Given the description of an element on the screen output the (x, y) to click on. 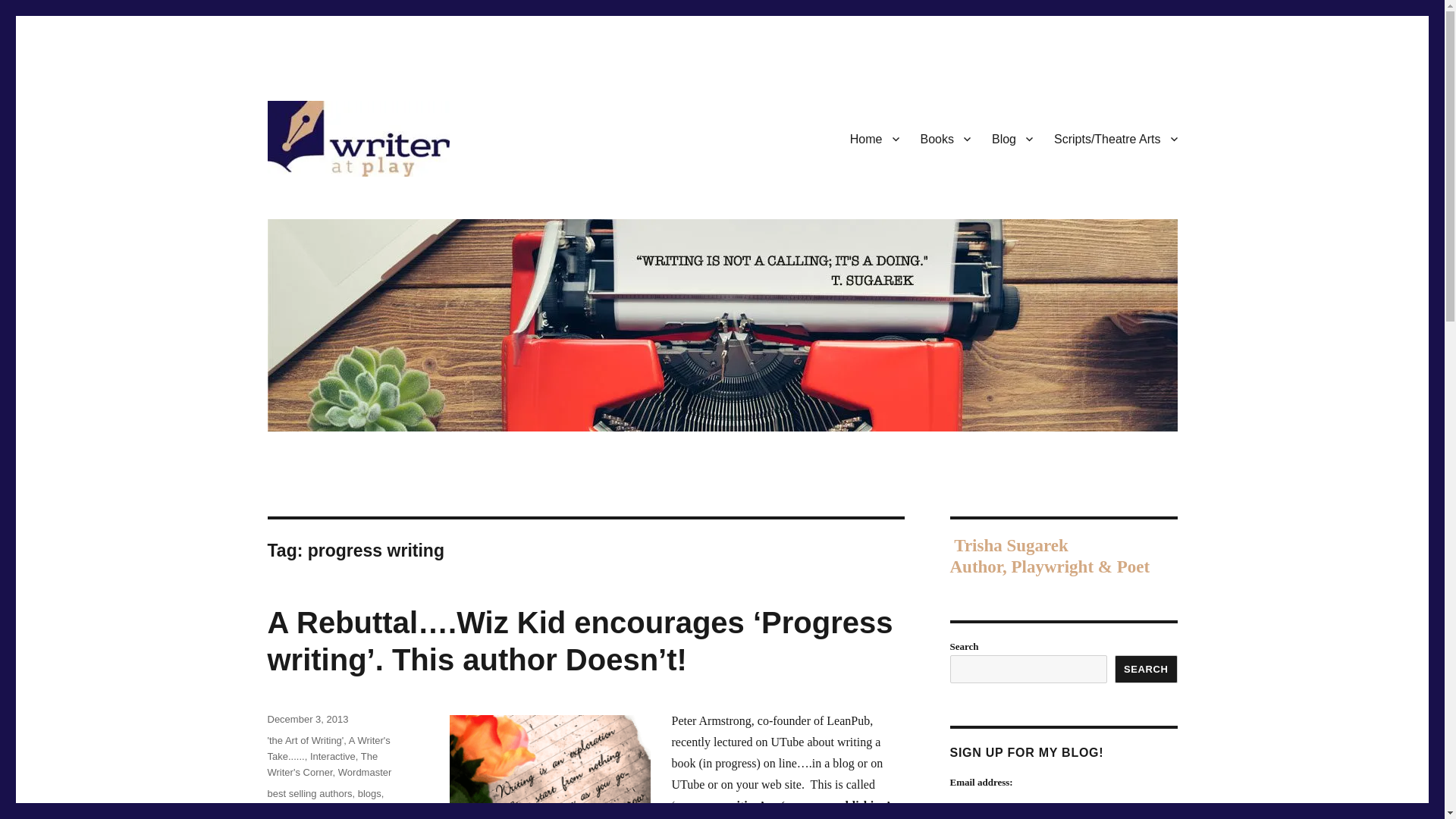
Home (875, 138)
Books (945, 138)
Blog (1012, 138)
